Given the description of an element on the screen output the (x, y) to click on. 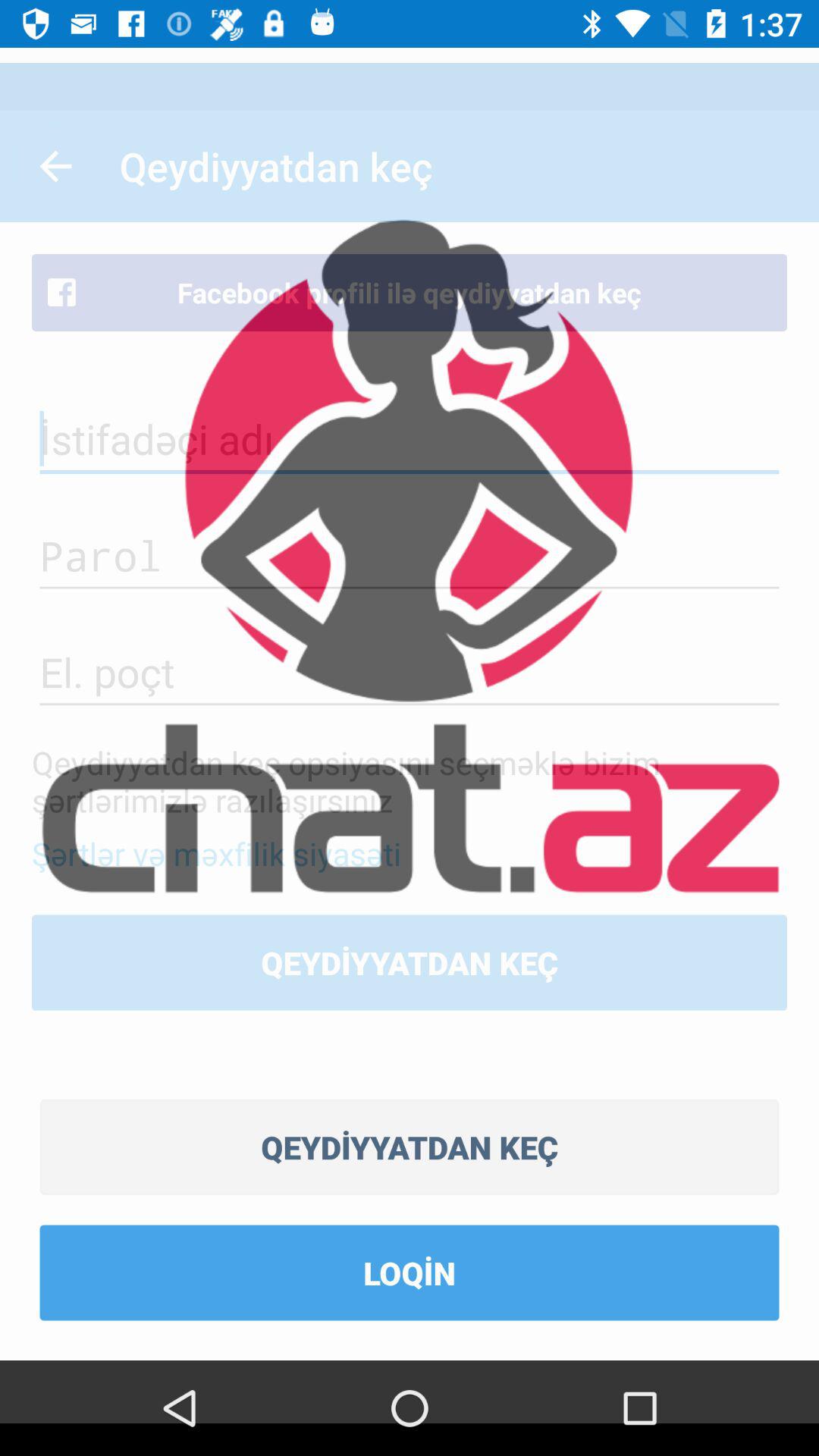
scroll until loqin (409, 1272)
